Given the description of an element on the screen output the (x, y) to click on. 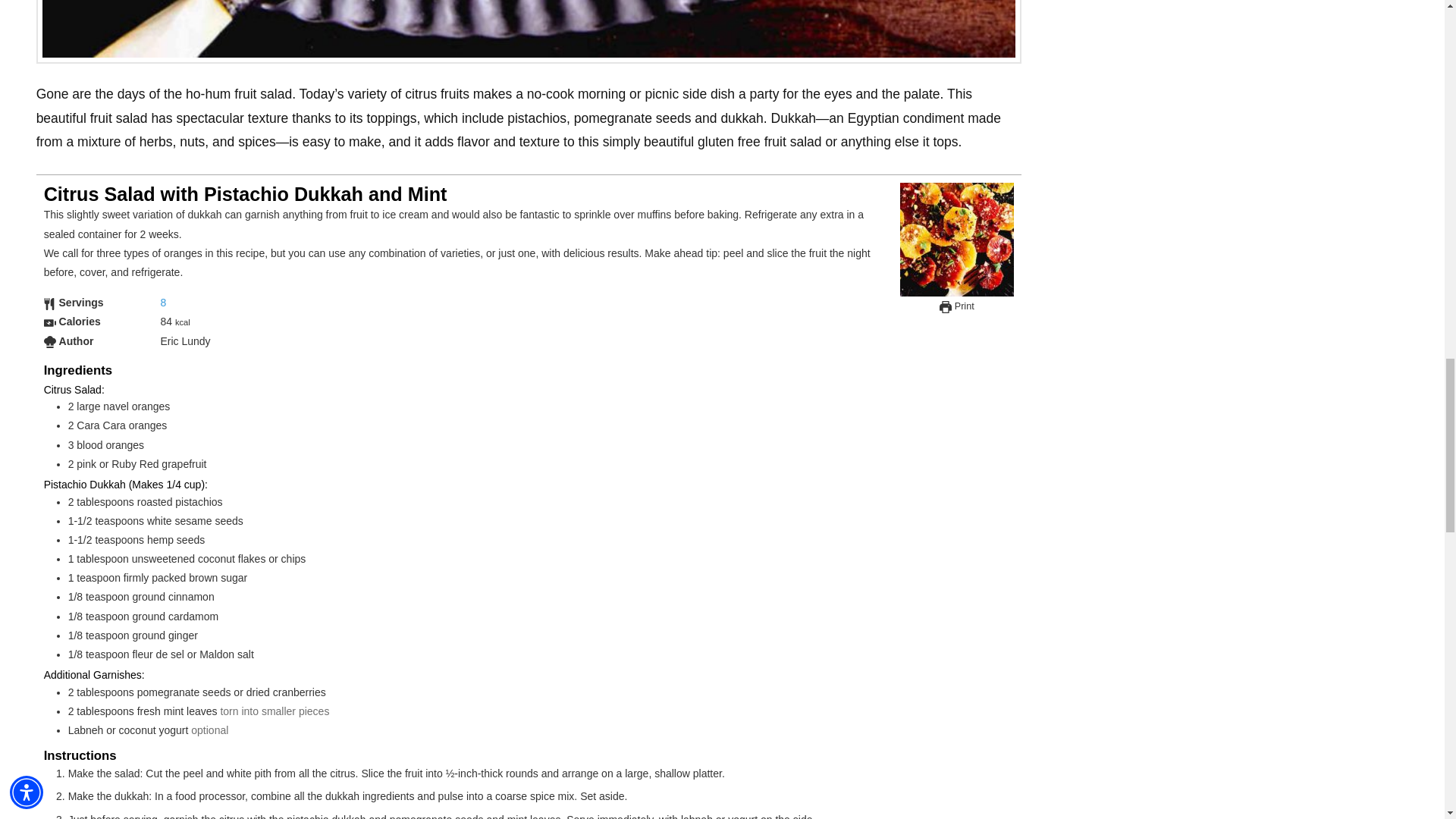
Print (956, 306)
